Given the description of an element on the screen output the (x, y) to click on. 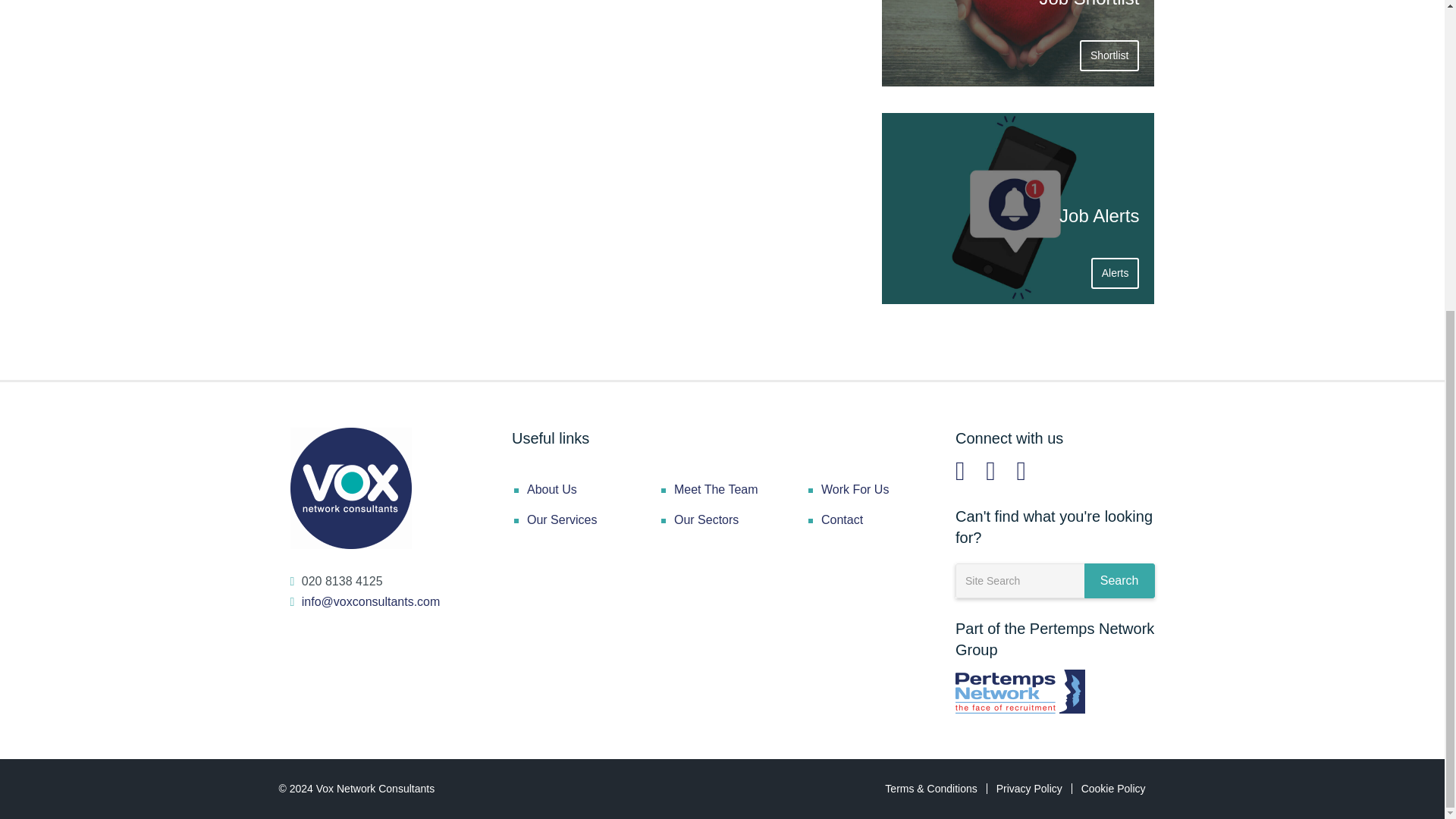
linkedin (960, 470)
facebook (1021, 470)
twitter (990, 470)
